Given the description of an element on the screen output the (x, y) to click on. 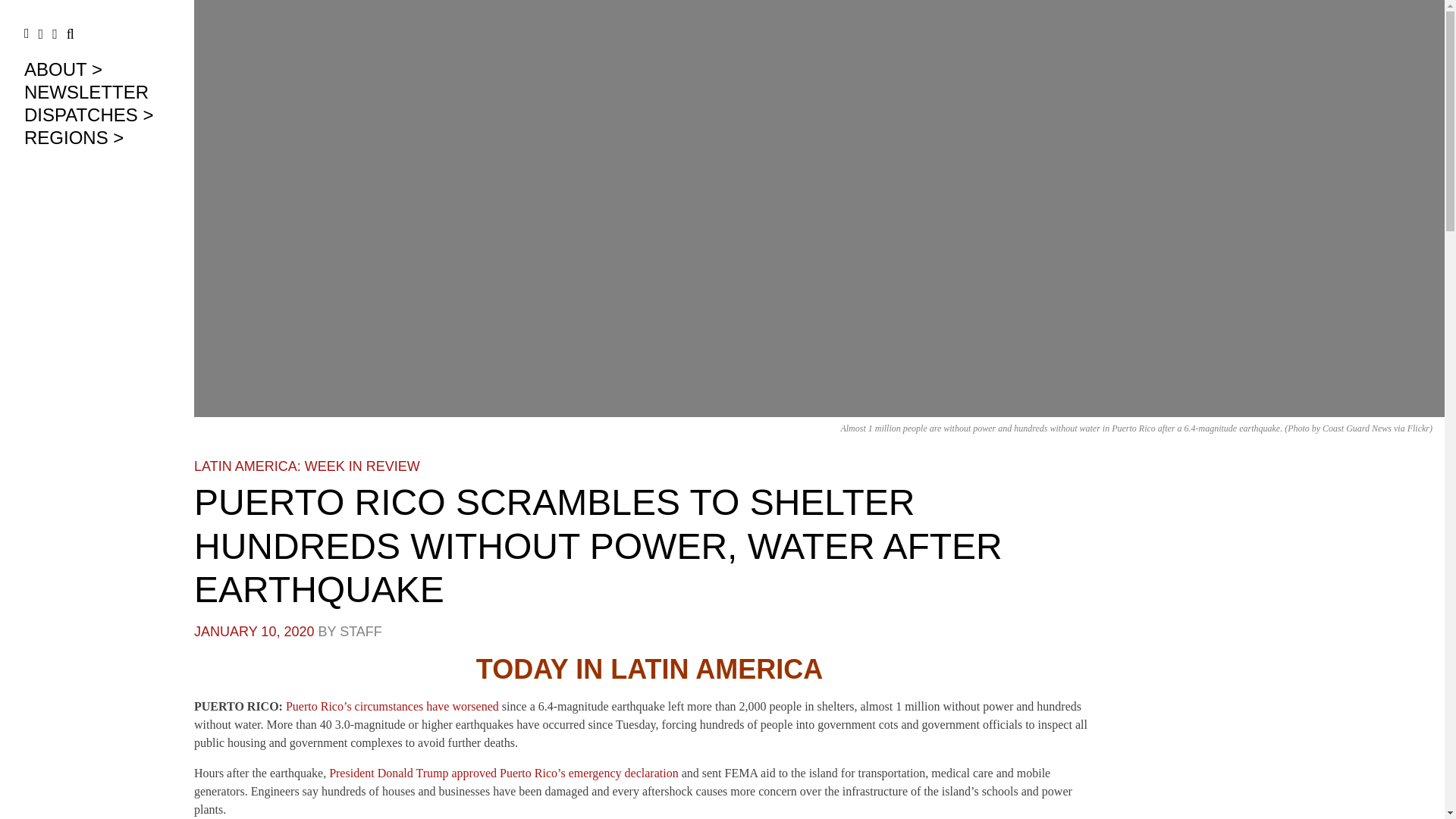
ABOUT (62, 68)
NEWSLETTER (86, 91)
DISPATCHES (89, 114)
REGIONS (73, 137)
